Given the description of an element on the screen output the (x, y) to click on. 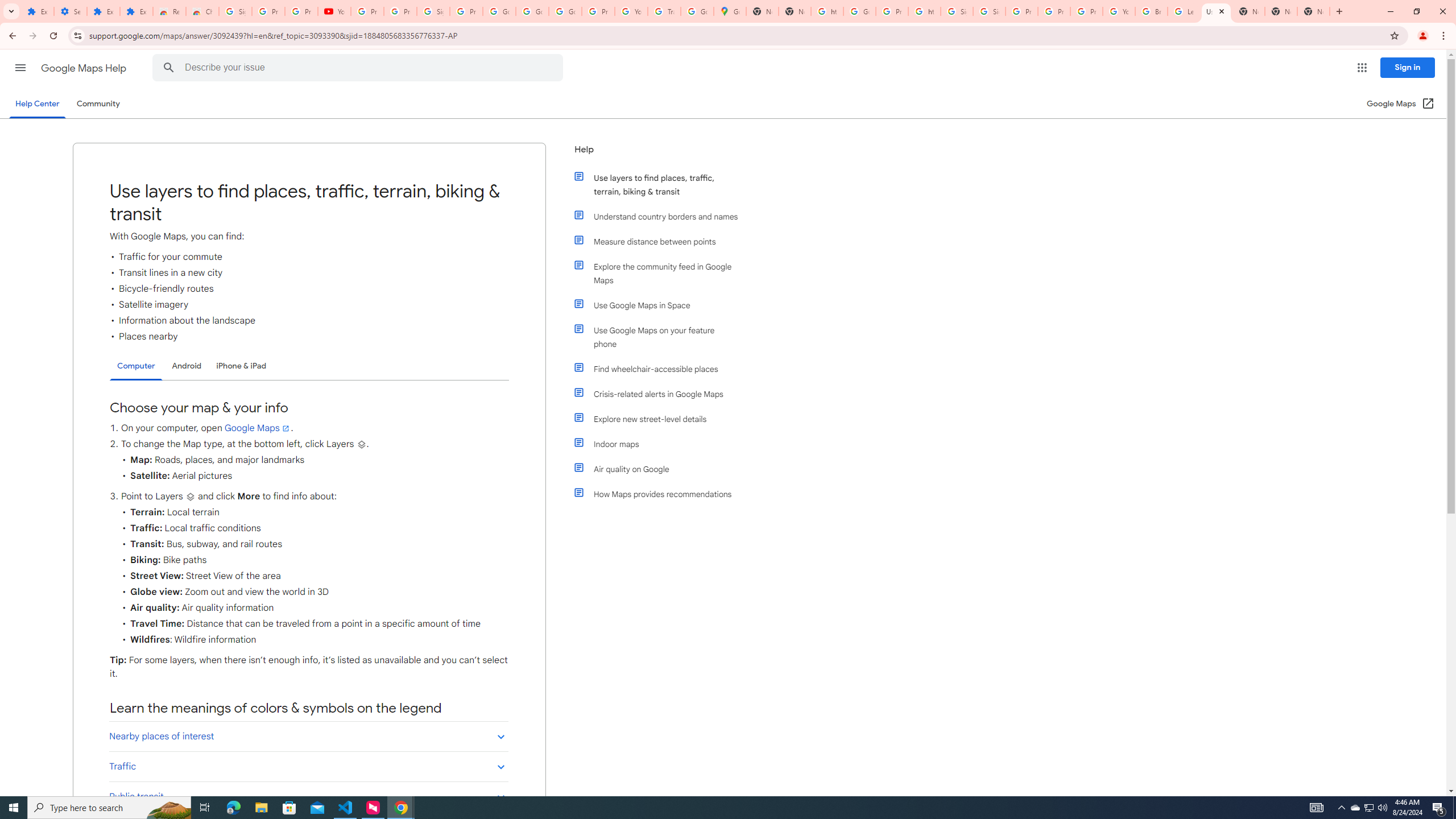
Settings (70, 11)
Close (1222, 11)
Community (97, 103)
Privacy Help Center - Policies Help (1021, 11)
How Maps provides recommendations (661, 493)
Extensions (136, 11)
Air quality on Google (661, 469)
Google Account (532, 11)
Sign in - Google Accounts (235, 11)
New Tab (1281, 11)
Google Maps (257, 428)
https://scholar.google.com/ (924, 11)
